Given the description of an element on the screen output the (x, y) to click on. 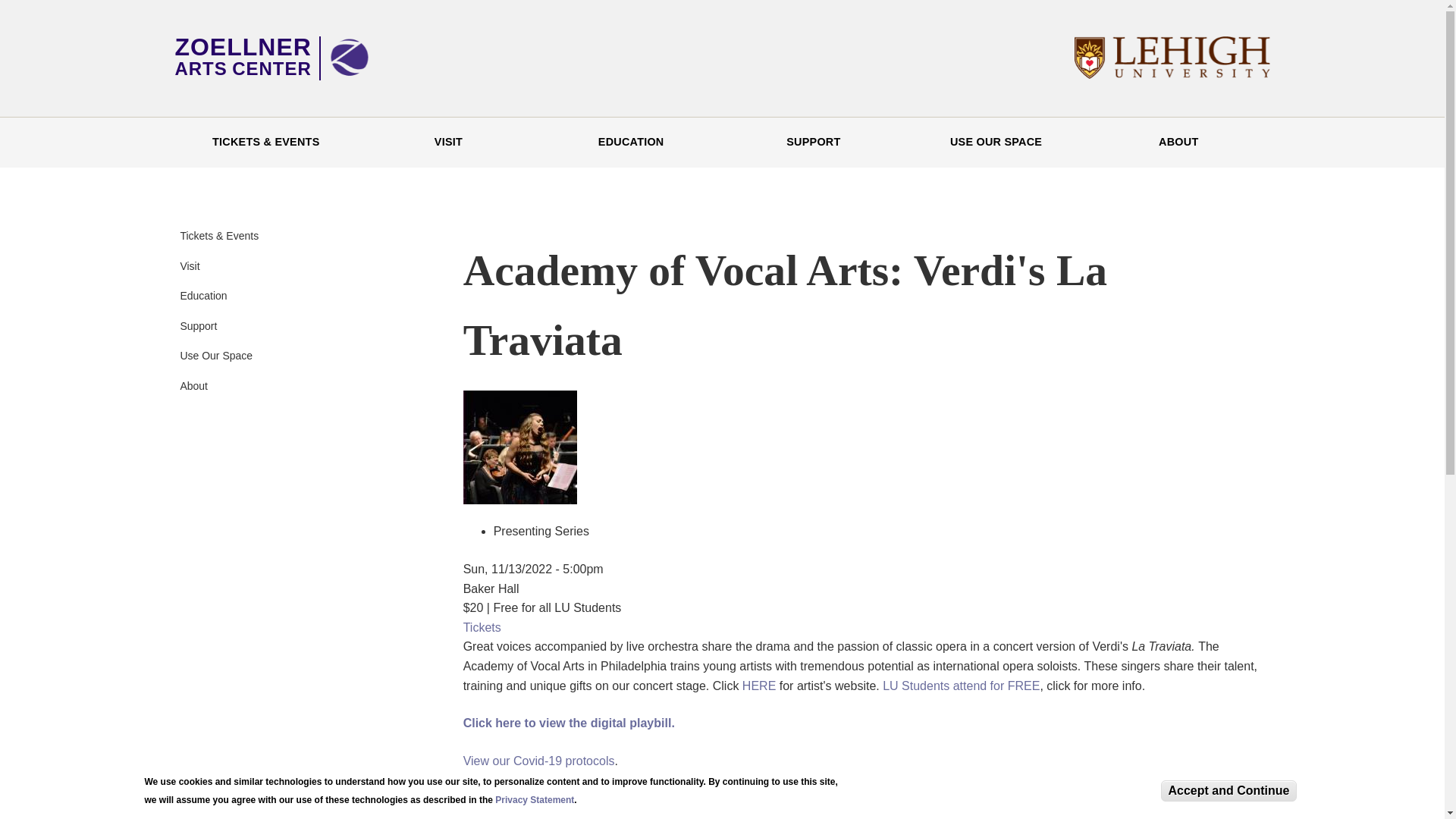
About (289, 386)
Lehigh Home (1171, 74)
Home (271, 58)
SUPPORT (271, 58)
USE OUR SPACE (813, 142)
Support (995, 142)
Tickets (289, 327)
EDUCATION (481, 626)
ABOUT (631, 142)
